Given the description of an element on the screen output the (x, y) to click on. 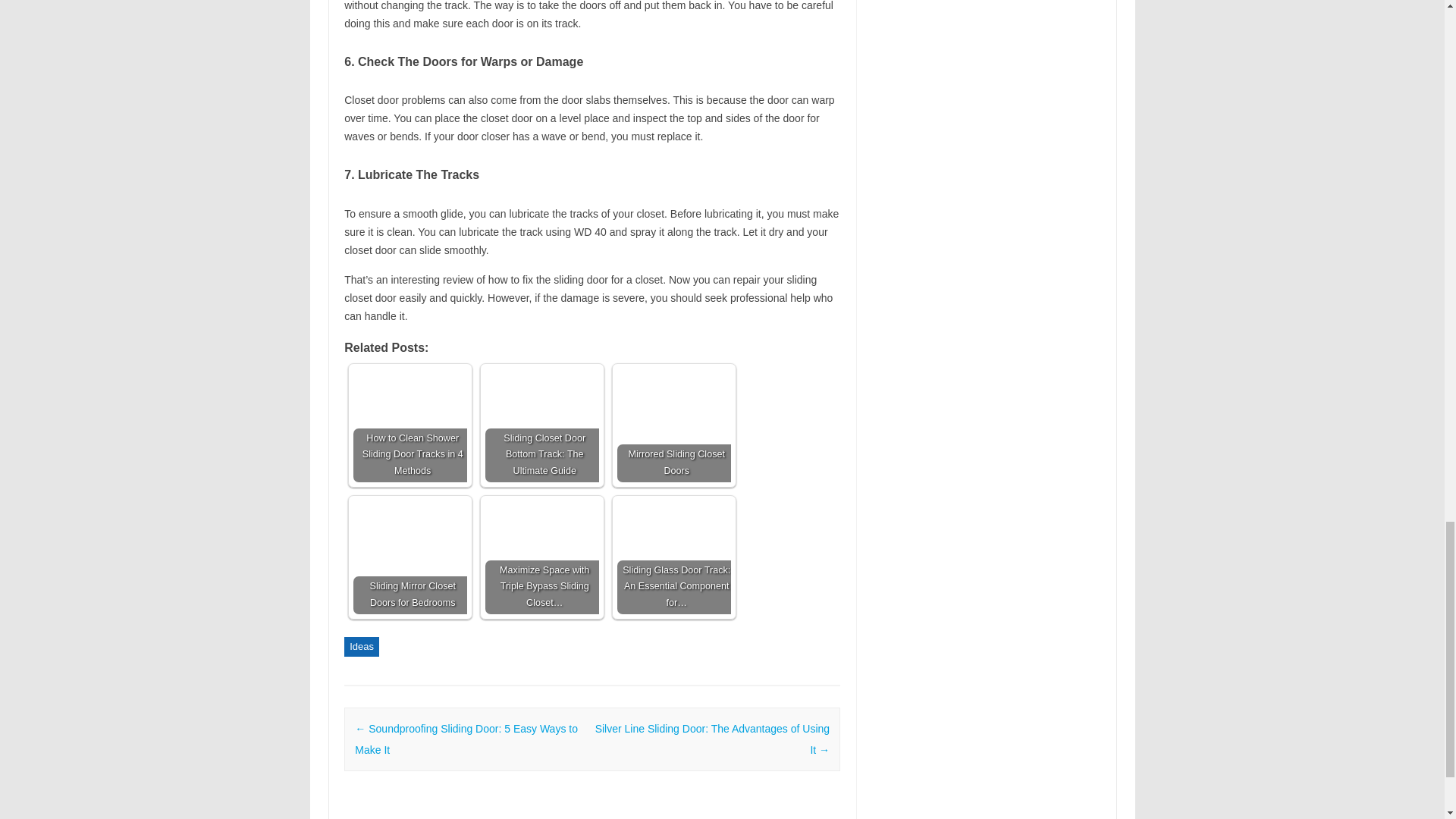
Mirrored Sliding Closet Doors (673, 425)
Sliding Closet Door Bottom Track: The Ultimate Guide (541, 411)
Mirrored Sliding Closet Doors (673, 425)
Sliding Mirror Closet Doors for Bedrooms (410, 557)
How to Clean Shower Sliding Door Tracks in 4 Methods (410, 425)
Sliding Mirror Closet Doors for Bedrooms (410, 557)
Sliding Closet Door Bottom Track: The Ultimate Guide (541, 425)
Ideas (360, 646)
How to Clean Shower Sliding Door Tracks in 4 Methods (410, 425)
